Given the description of an element on the screen output the (x, y) to click on. 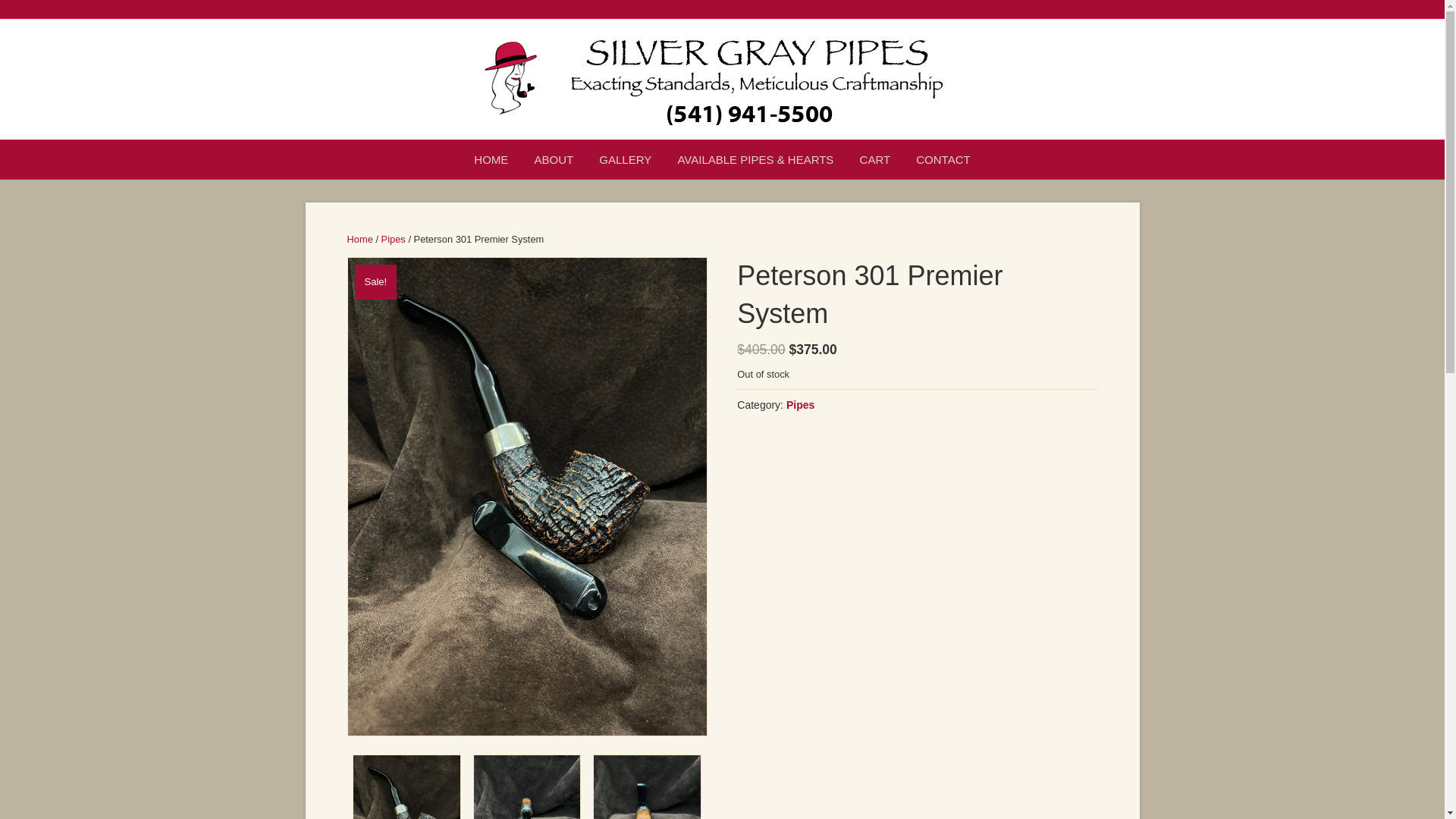
GALLERY (625, 159)
HOME (491, 159)
Home (359, 238)
ABOUT (553, 159)
CONTACT (942, 159)
CART (875, 159)
Pipes (799, 404)
Pipes (393, 238)
